Given the description of an element on the screen output the (x, y) to click on. 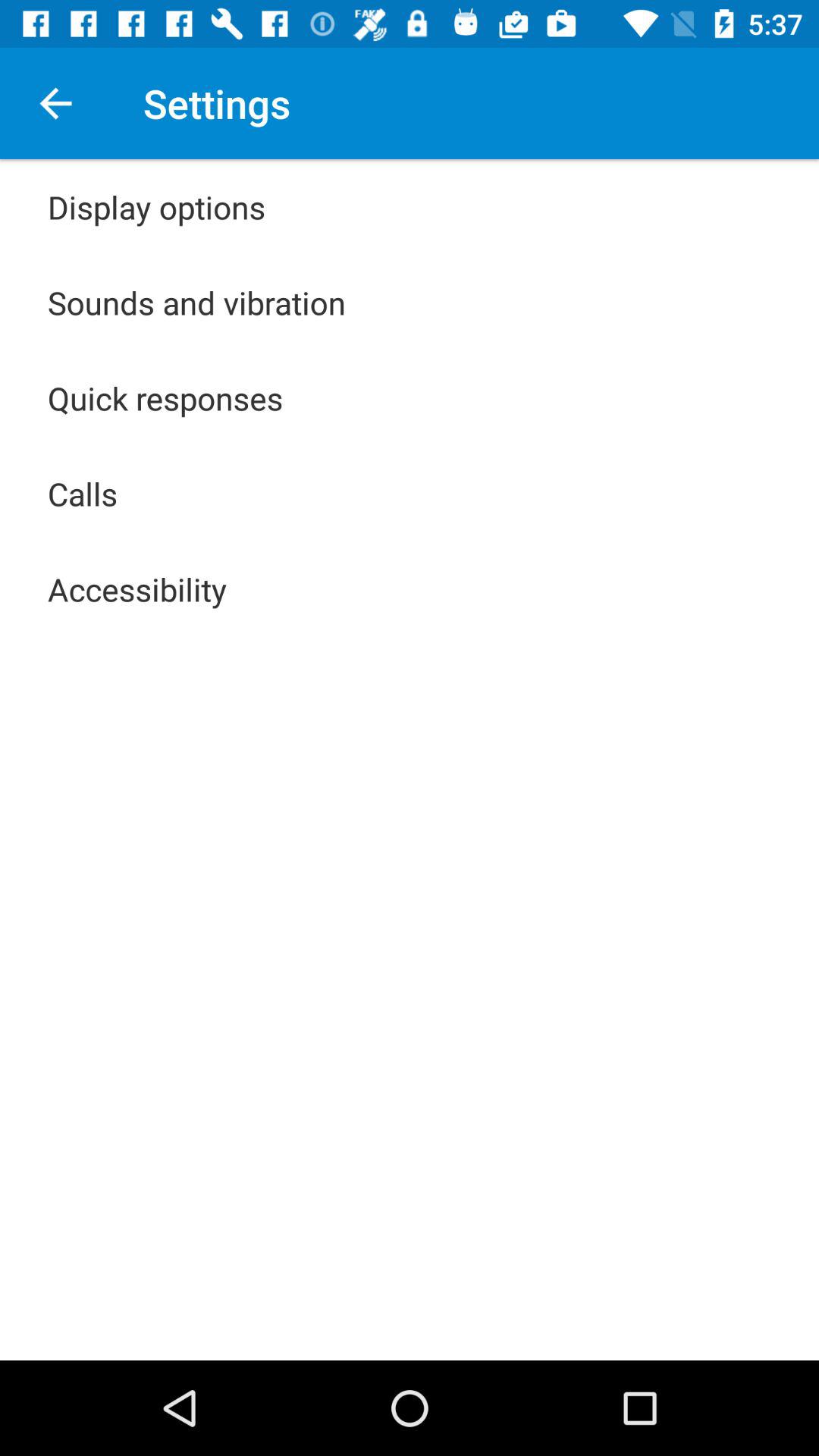
scroll to the sounds and vibration icon (196, 302)
